Given the description of an element on the screen output the (x, y) to click on. 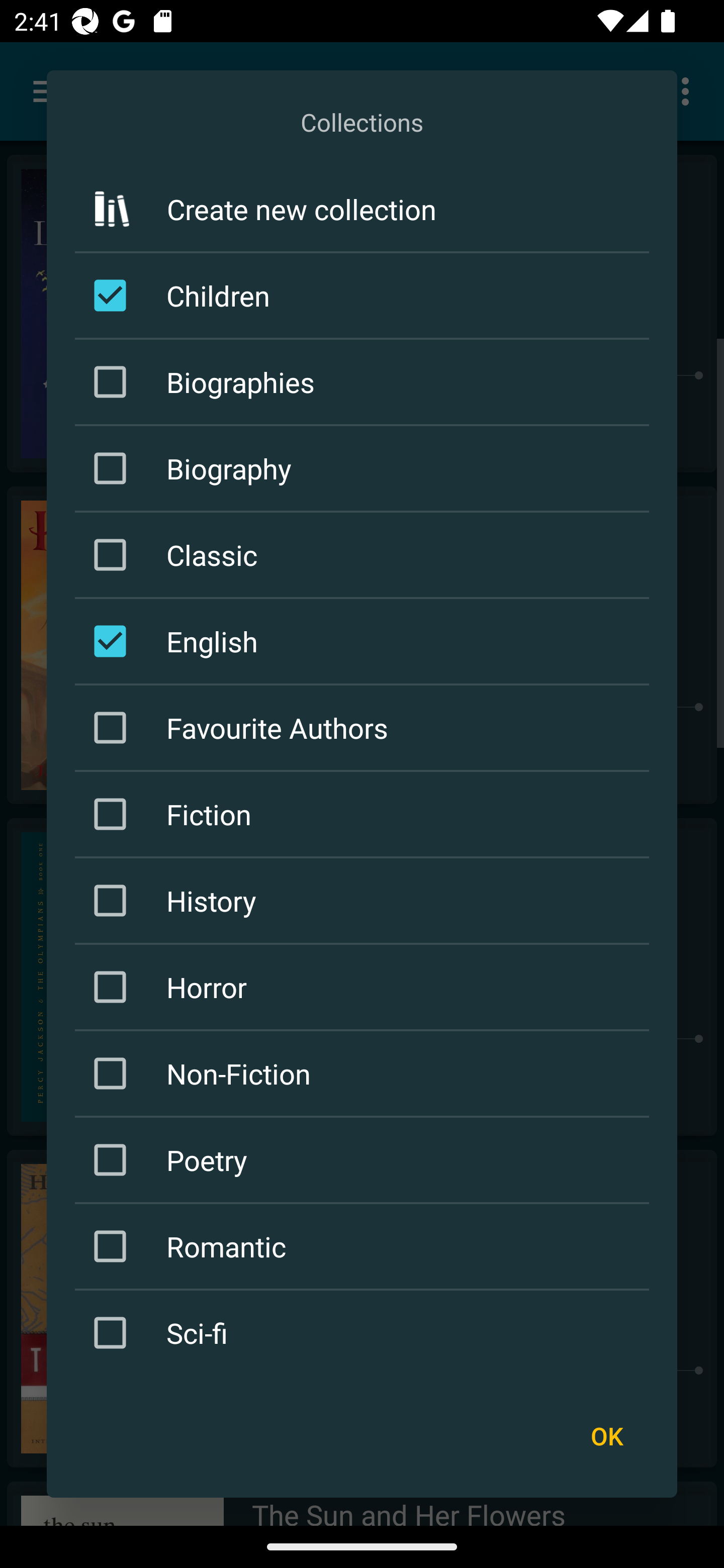
Create new collection (361, 208)
Children (365, 295)
Biographies (365, 382)
Biography (365, 468)
Classic (365, 554)
English (365, 640)
Favourite Authors (365, 727)
Fiction (365, 813)
History (365, 899)
Horror (365, 986)
Non-Fiction (365, 1073)
Poetry (365, 1159)
Romantic (365, 1246)
Sci-fi (365, 1332)
OK (606, 1436)
